Given the description of an element on the screen output the (x, y) to click on. 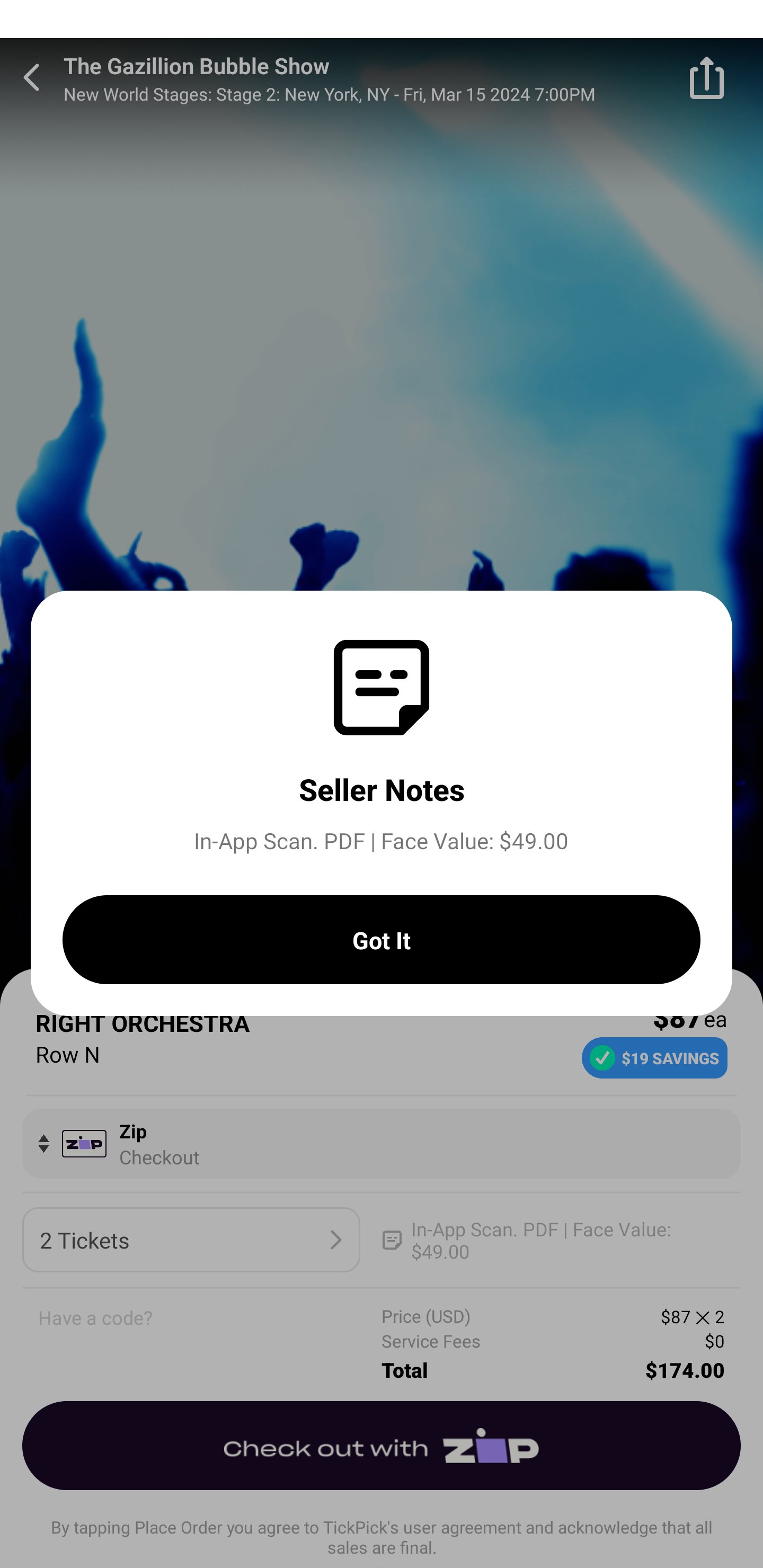
Got It (381, 939)
